Given the description of an element on the screen output the (x, y) to click on. 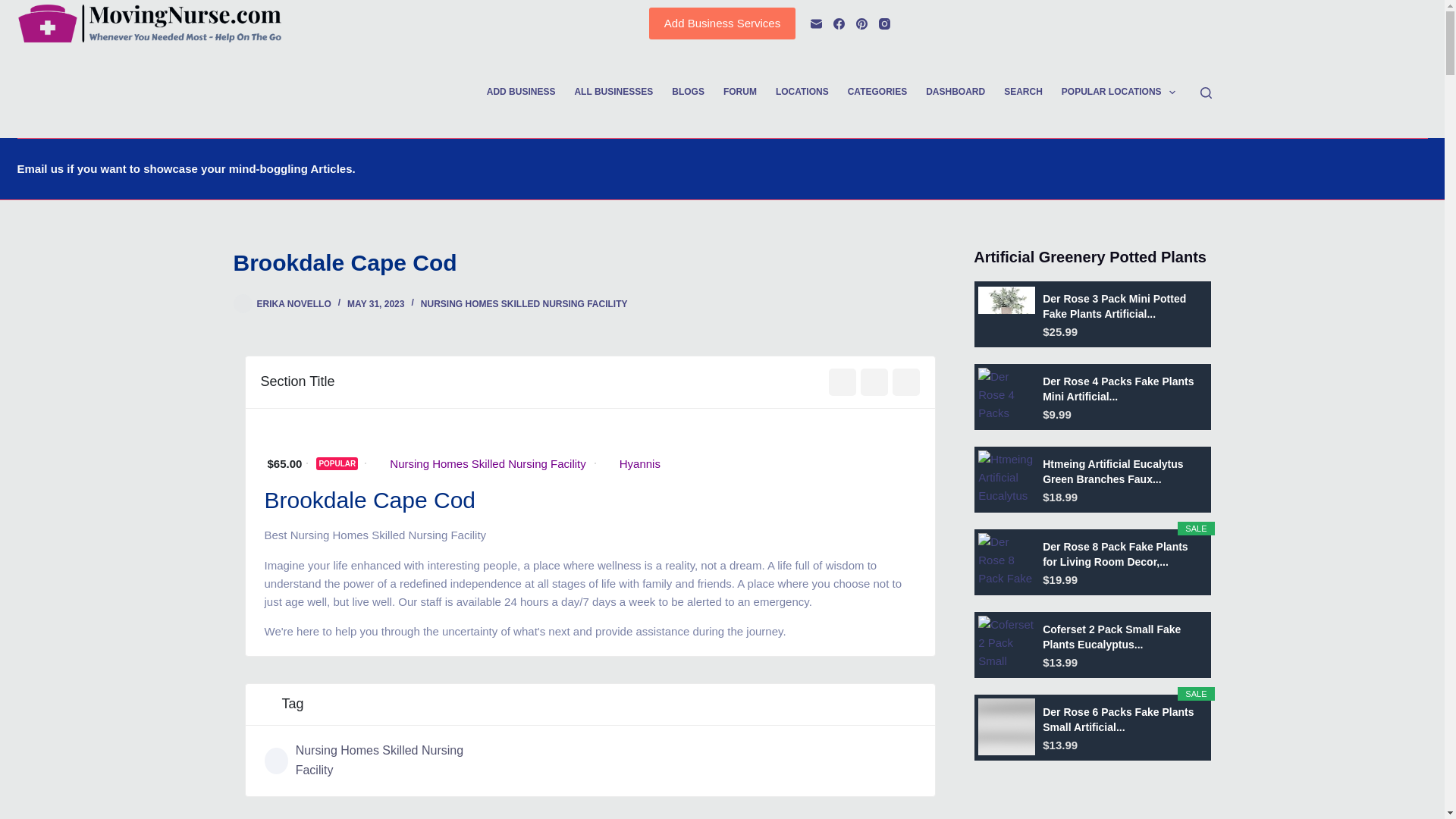
Skip to content (15, 7)
ADD BUSINESS (520, 92)
POPULAR LOCATIONS (1118, 92)
Brookdale Cape Cod (589, 262)
ALL BUSINESSES (613, 92)
Add Business Services (721, 23)
Posts by Erika Novello (293, 303)
